Given the description of an element on the screen output the (x, y) to click on. 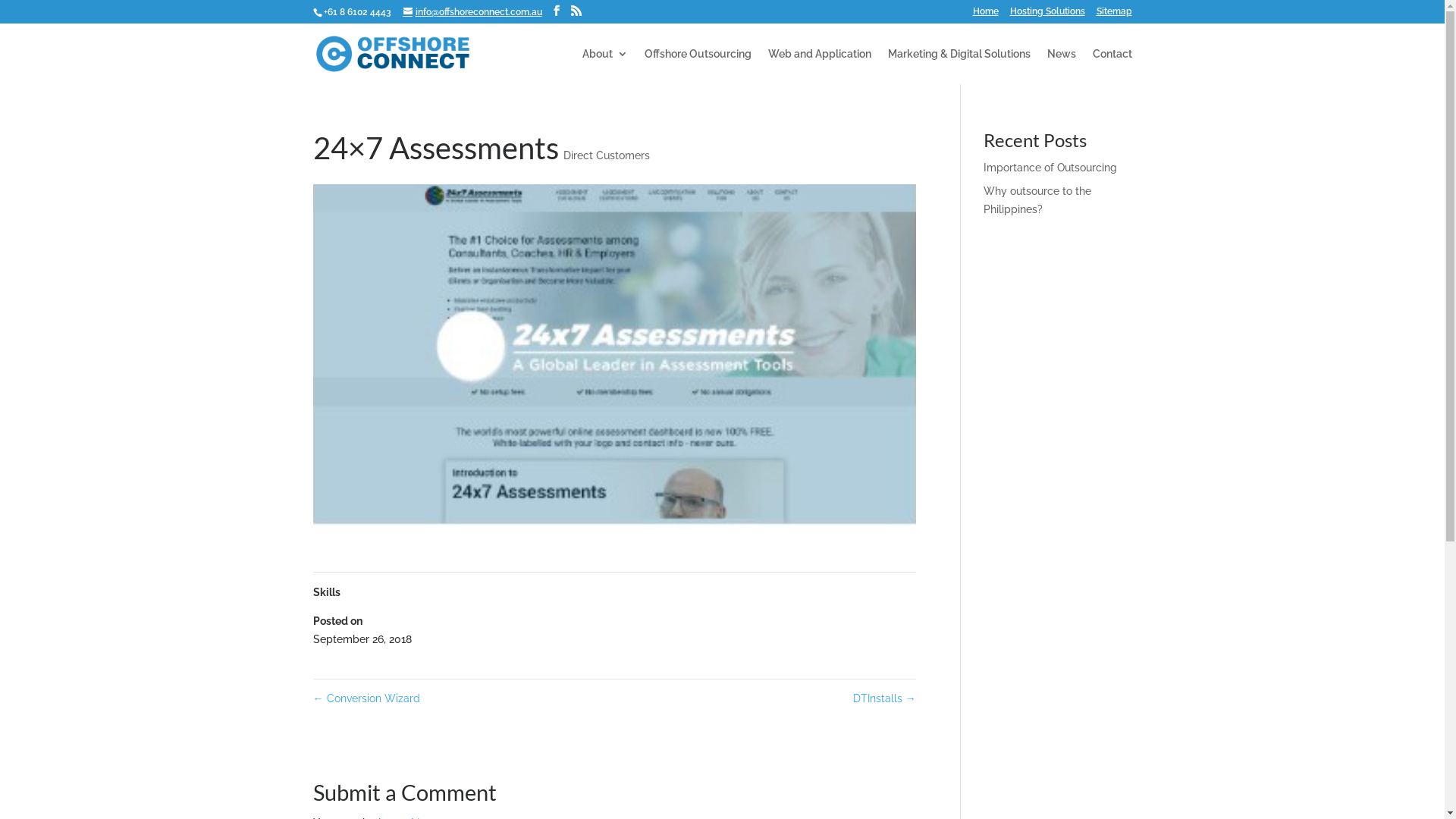
Offshore Outsourcing Element type: text (697, 66)
About Element type: text (604, 66)
Hosting Solutions Element type: text (1047, 14)
Direct Customers Element type: text (605, 155)
Why outsource to the Philippines? Element type: text (1037, 200)
Home Element type: text (984, 14)
Sitemap Element type: text (1114, 14)
News Element type: text (1060, 66)
Importance of Outsourcing Element type: text (1050, 167)
info@offshoreconnect.com.au Element type: text (472, 11)
Marketing & Digital Solutions Element type: text (958, 66)
Contact Element type: text (1111, 66)
Web and Application Element type: text (818, 66)
